Given the description of an element on the screen output the (x, y) to click on. 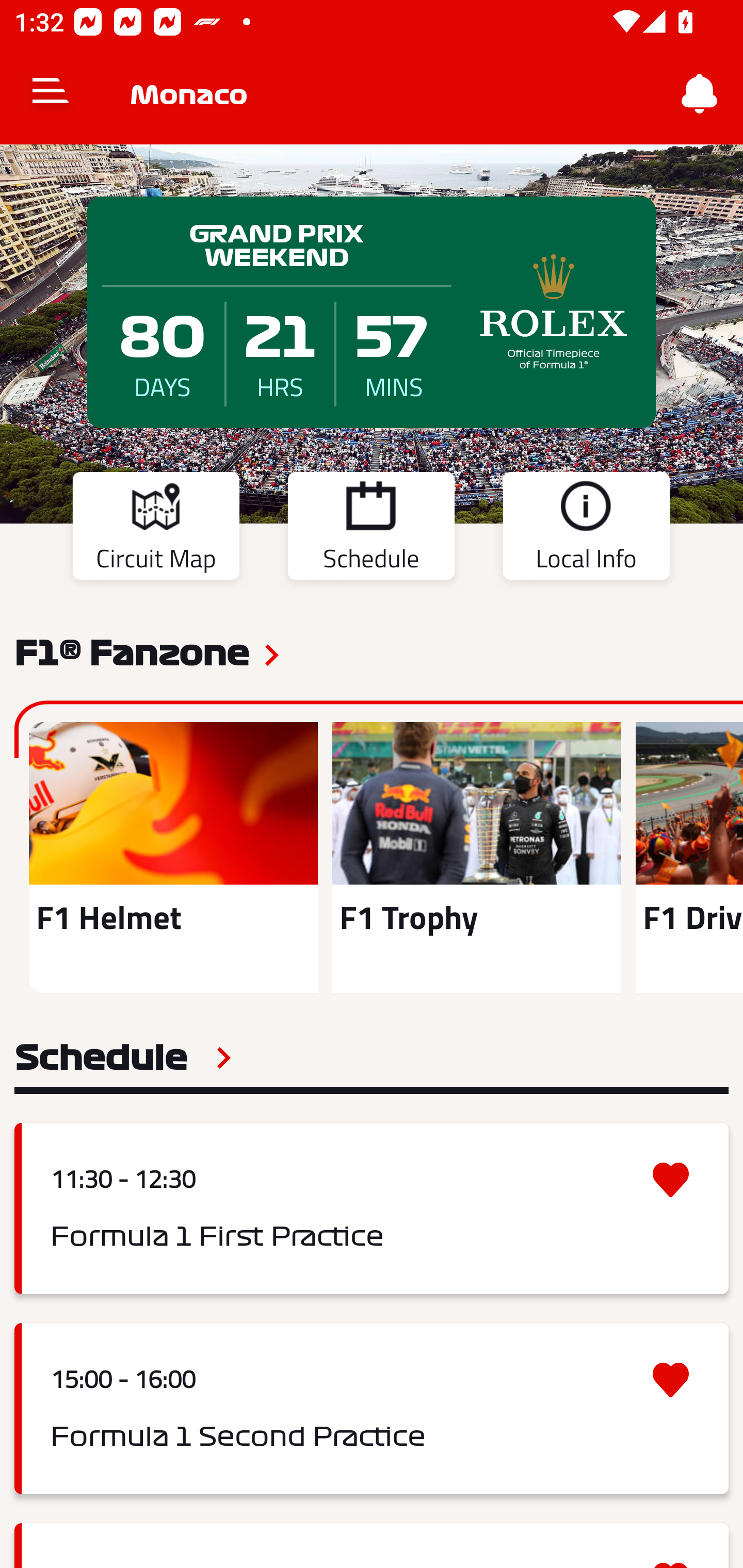
Navigate up (50, 93)
Notifications (699, 93)
Circuit Map (155, 528)
Schedule (370, 528)
Local Info (586, 528)
F1® Fanzone (131, 651)
F1 Helmet (173, 857)
F1 Trophy (476, 857)
Schedule (122, 1057)
11:30 - 12:30 Formula 1 First Practice (371, 1207)
15:00 - 16:00 Formula 1 Second Practice (371, 1408)
